Given the description of an element on the screen output the (x, y) to click on. 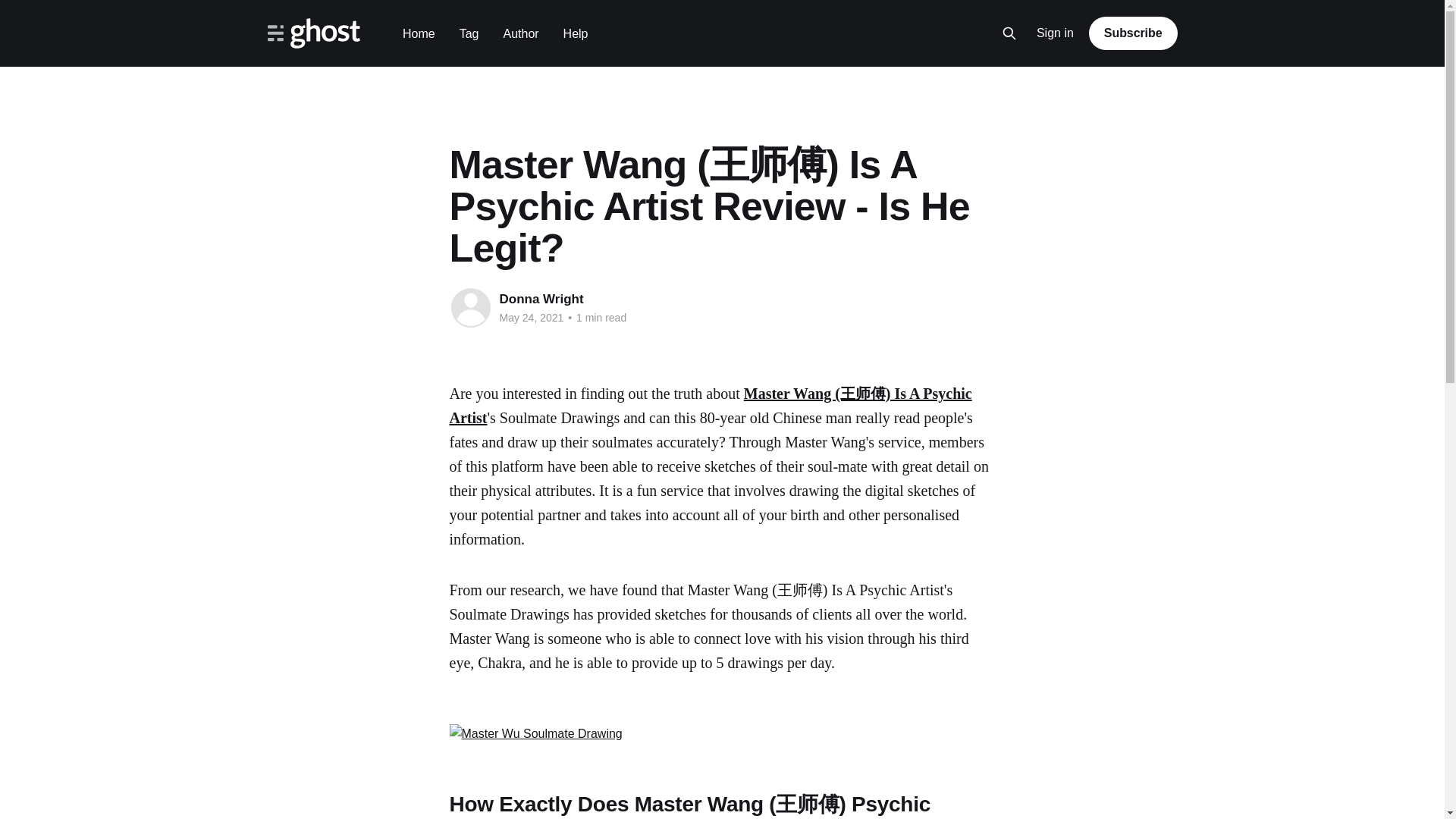
Tag (469, 33)
Sign in (1055, 33)
Home (419, 33)
Subscribe (1133, 32)
Author (520, 33)
Donna Wright (541, 298)
Help (575, 33)
